Given the description of an element on the screen output the (x, y) to click on. 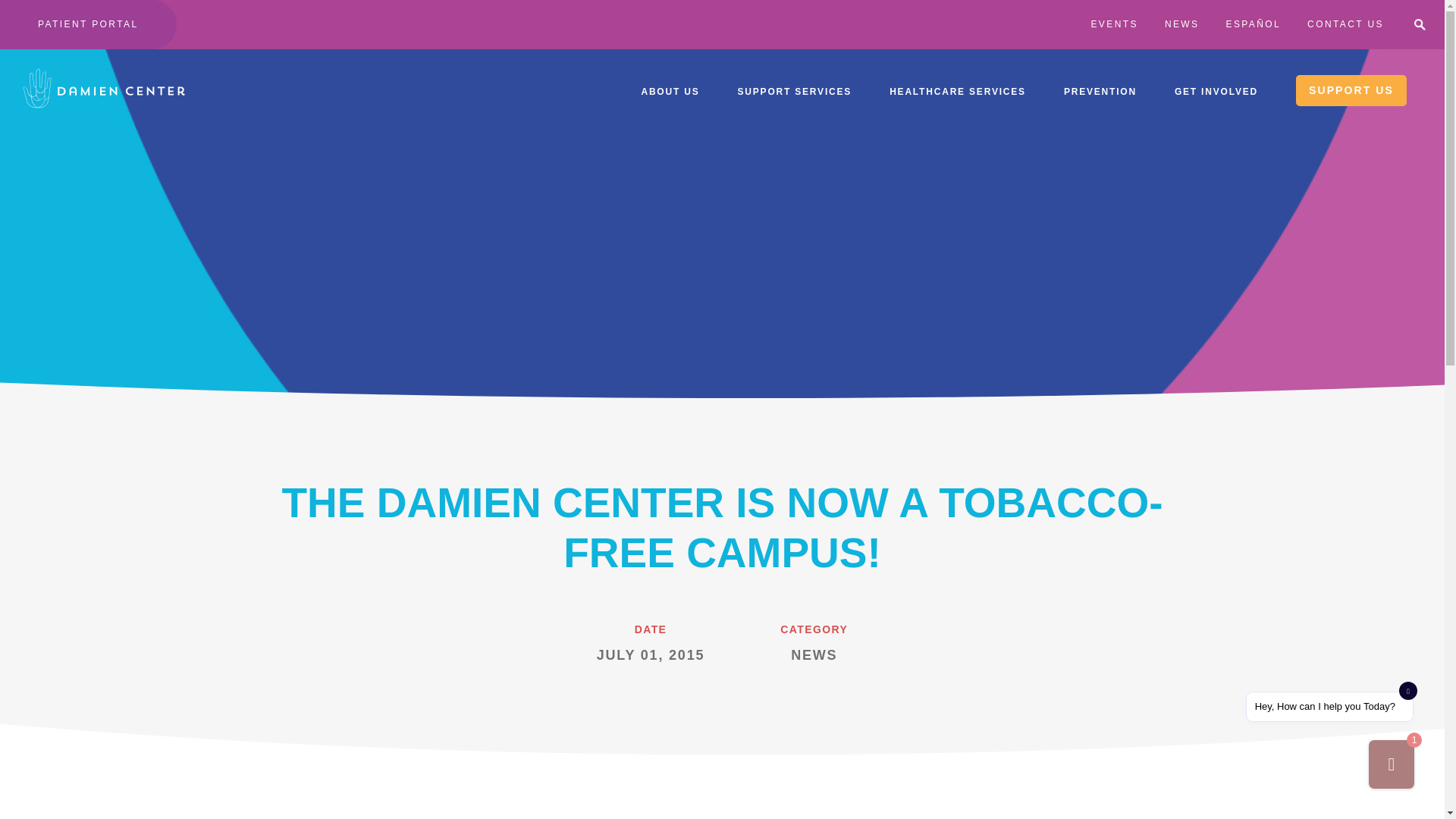
NEWS (1181, 23)
CONTACT US (1345, 23)
ABOUT US (669, 90)
Damien Center Logo (103, 90)
EVENTS (1113, 23)
SUPPORT SERVICES (793, 90)
Damien Center Logo (103, 88)
PATIENT PORTAL (88, 24)
PREVENTION (1100, 90)
HEALTHCARE SERVICES (957, 90)
